Given the description of an element on the screen output the (x, y) to click on. 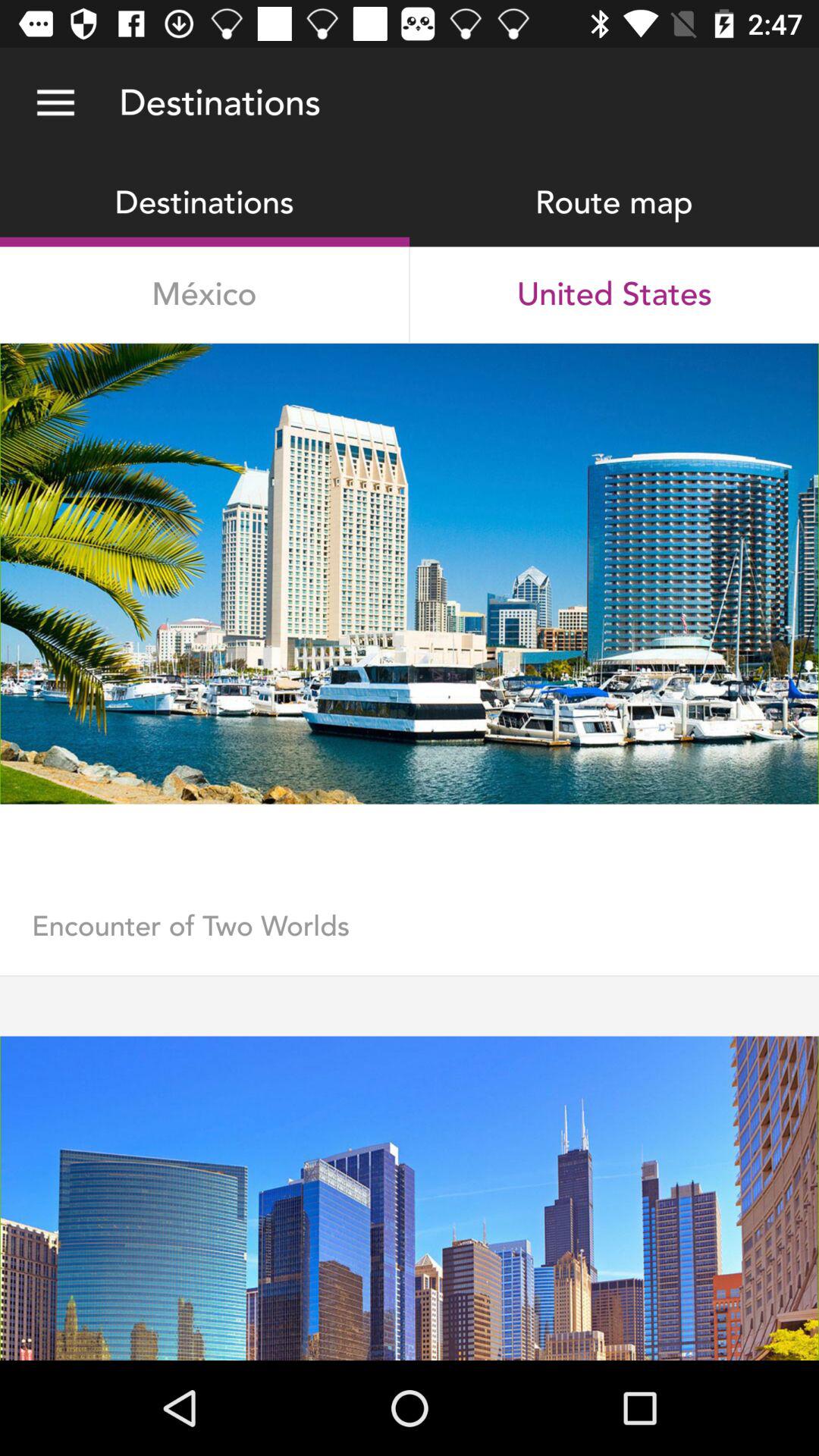
tap united states icon (614, 294)
